Given the description of an element on the screen output the (x, y) to click on. 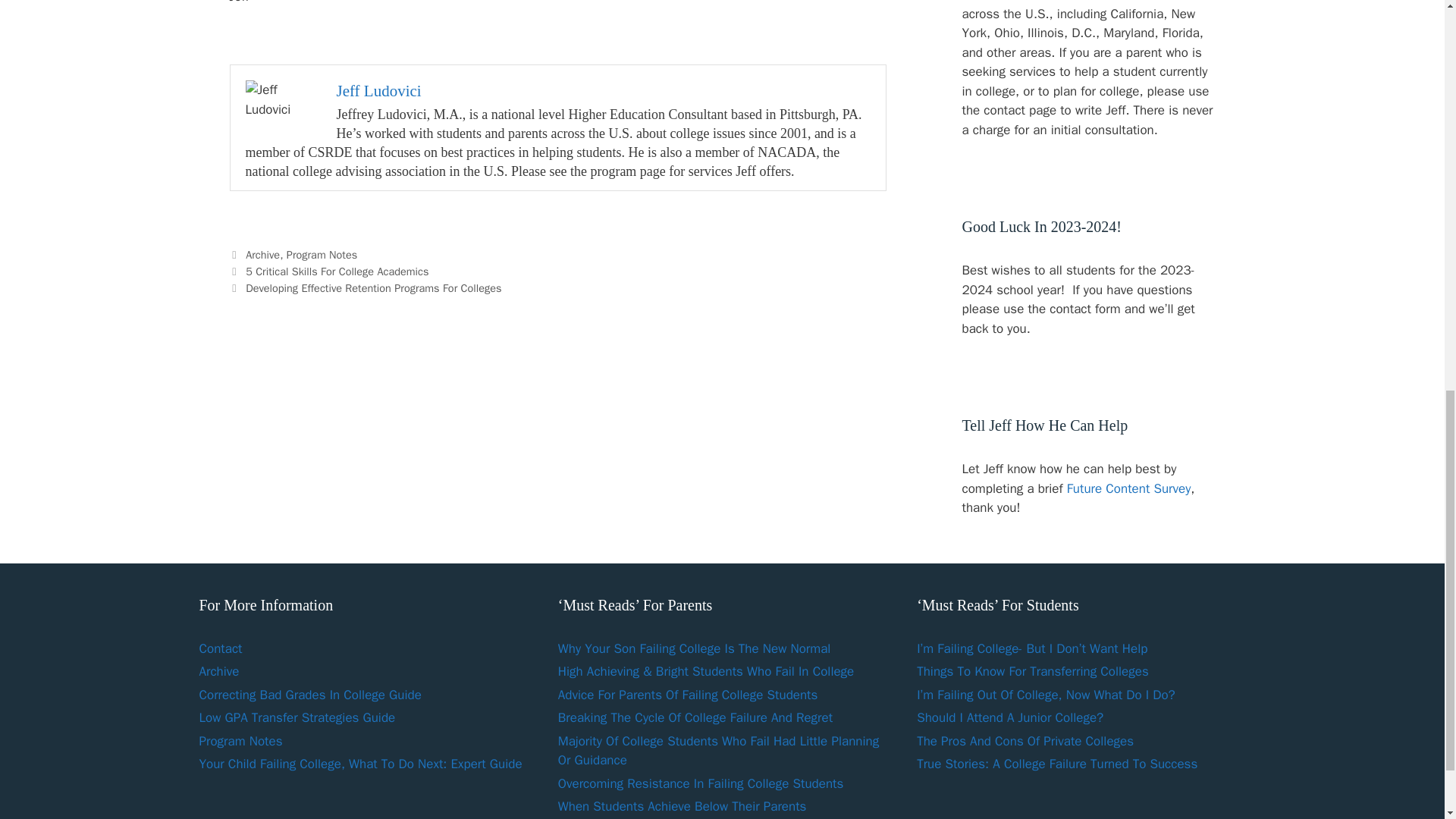
Program Notes (321, 254)
Archive (218, 671)
Jeff Ludovici (379, 90)
Low GPA Transfer Strategies Guide (296, 717)
Contact (219, 647)
Breaking The Cycle Of College Failure And Regret (694, 717)
5 Critical Skills For College Academics (337, 271)
Archive (262, 254)
Why Your Son Failing College Is The New Normal (694, 647)
Program Notes (240, 740)
Developing Effective Retention Programs For Colleges (373, 287)
Correcting Bad Grades In College Guide (309, 694)
Advice For Parents Of Failing College Students (687, 694)
Your Child Failing College, What To Do Next: Expert Guide (359, 763)
